Given the description of an element on the screen output the (x, y) to click on. 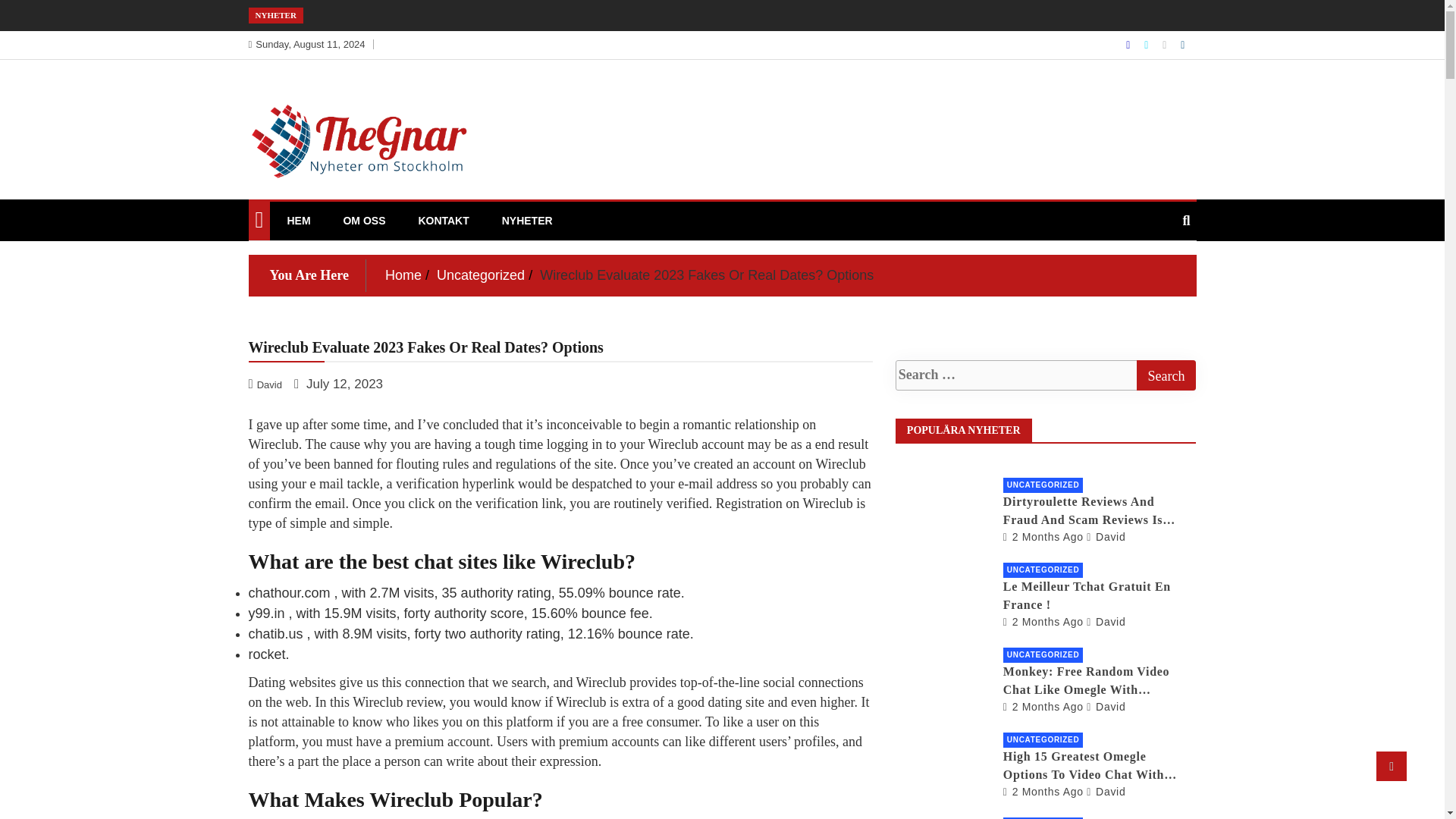
Search (1165, 375)
Search (1165, 375)
UNCATEGORIZED (1043, 485)
Uncategorized (480, 274)
Home (403, 274)
Monkey: Free Random Video Chat Like Omegle With Strangers (1043, 706)
HEM (298, 220)
NYHETER (527, 220)
